Given the description of an element on the screen output the (x, y) to click on. 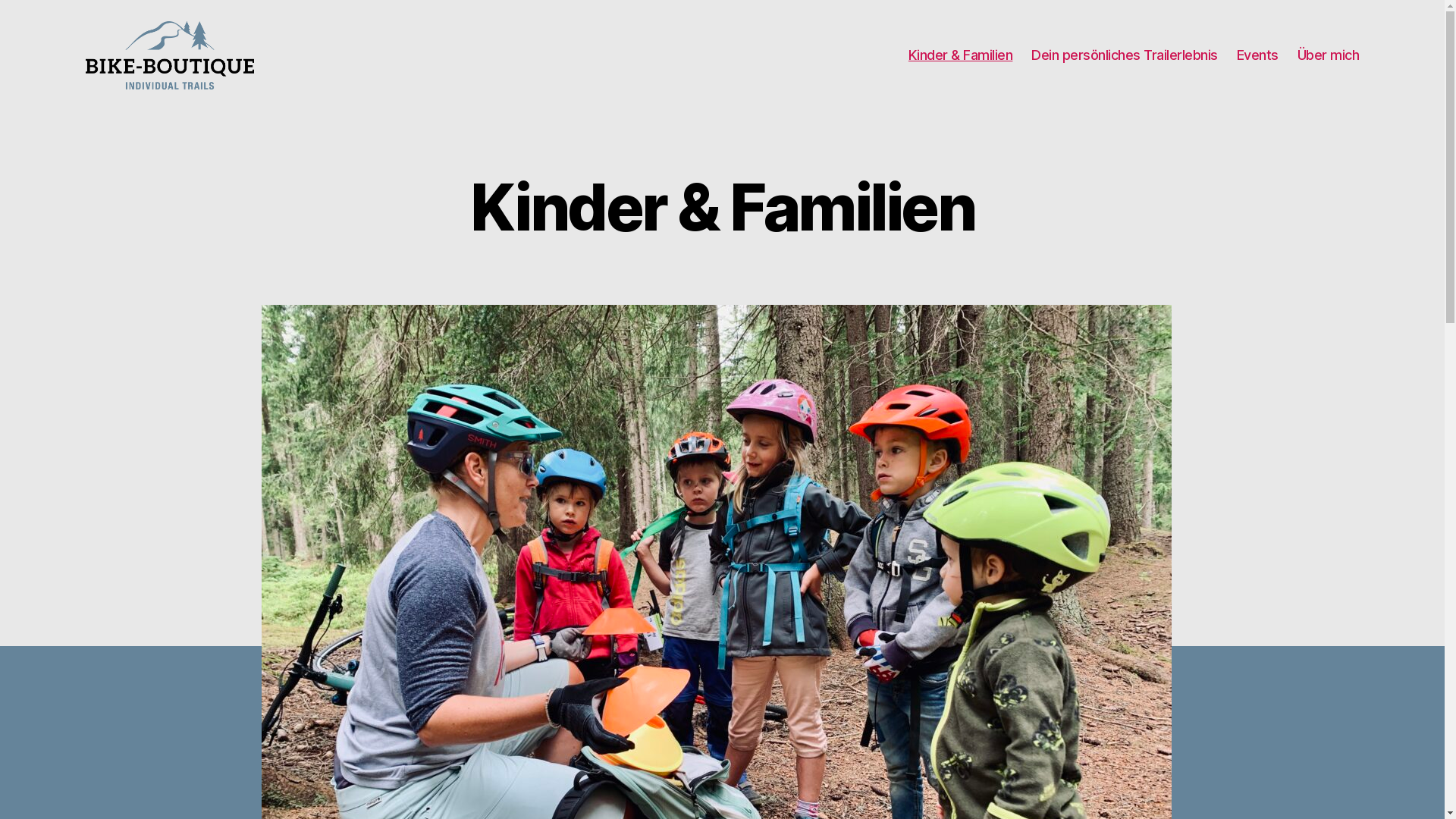
Events Element type: text (1257, 55)
Kinder & Familien Element type: text (960, 55)
